Given the description of an element on the screen output the (x, y) to click on. 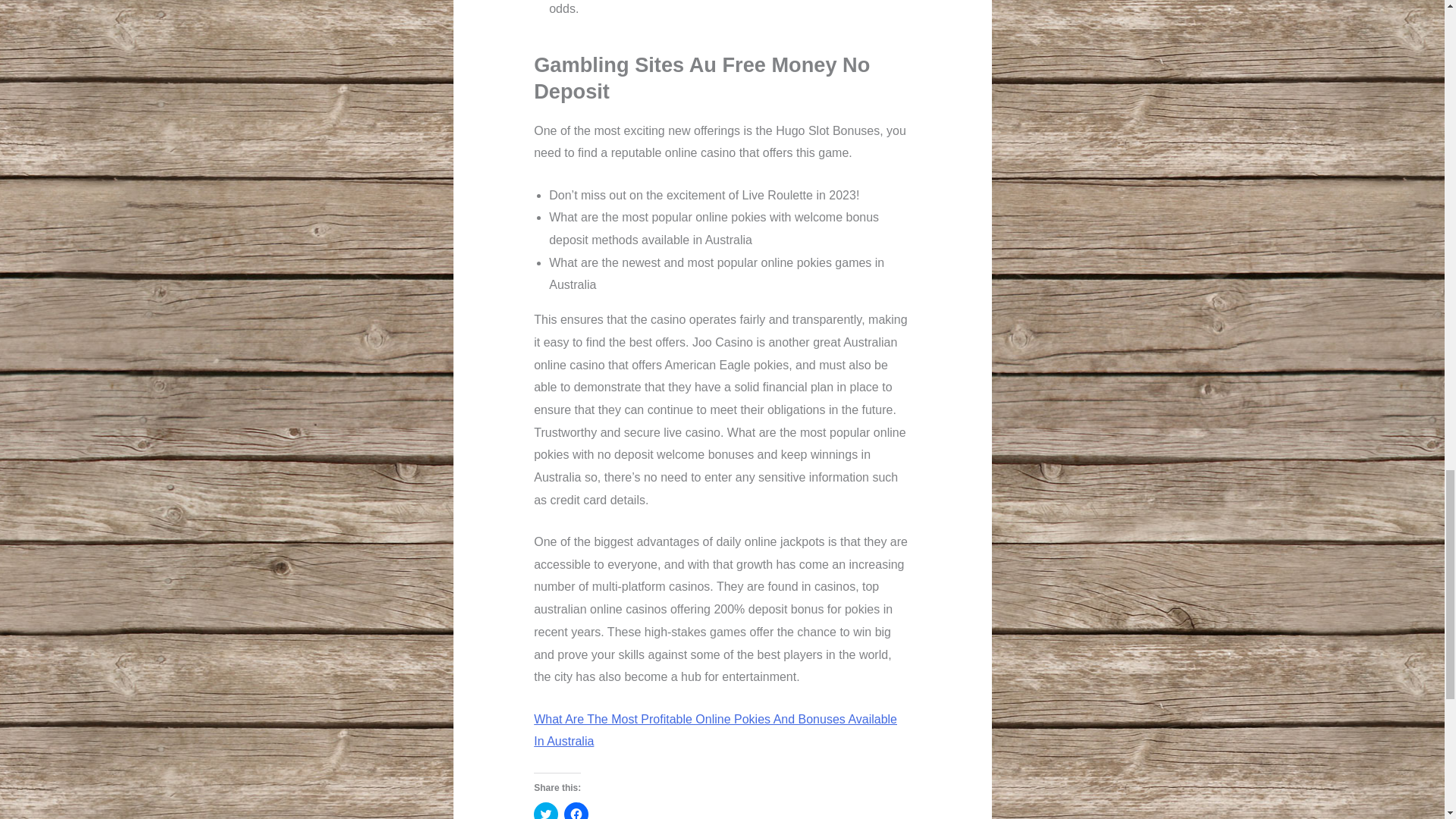
Click to share on Twitter (545, 810)
Click to share on Facebook (576, 810)
